Given the description of an element on the screen output the (x, y) to click on. 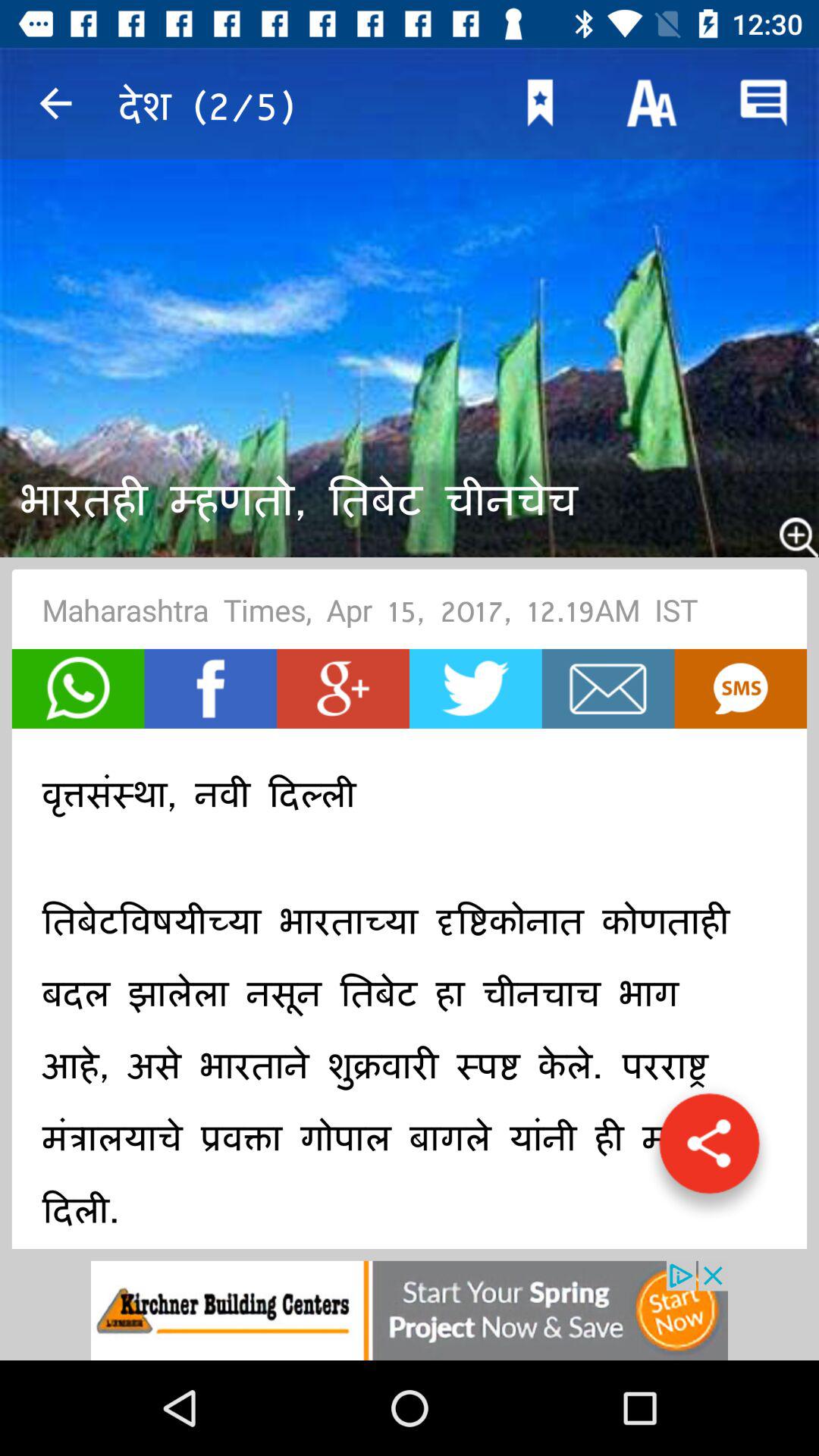
show more links (709, 1151)
